Given the description of an element on the screen output the (x, y) to click on. 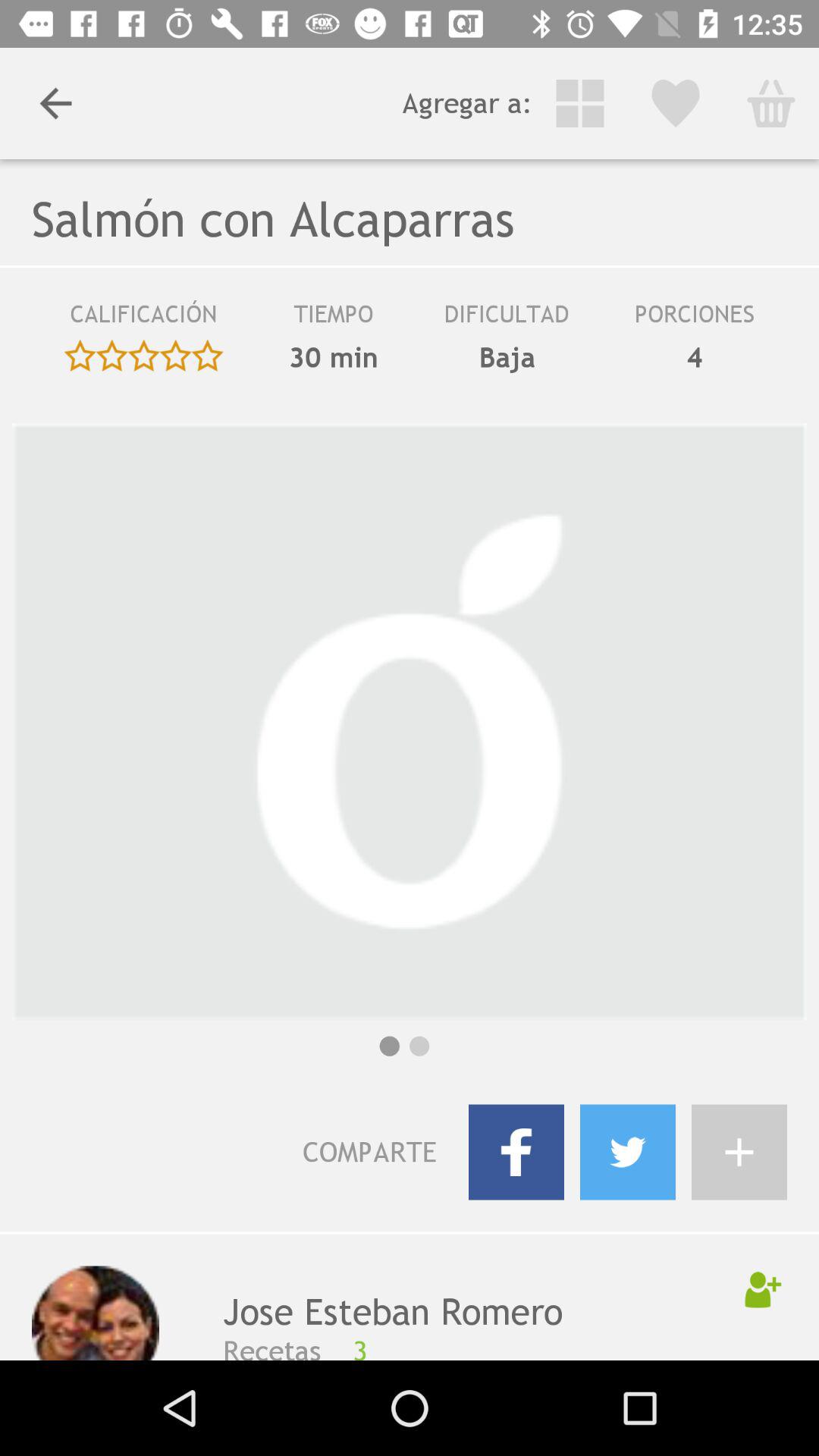
turn on icon next to dificultad (333, 319)
